Given the description of an element on the screen output the (x, y) to click on. 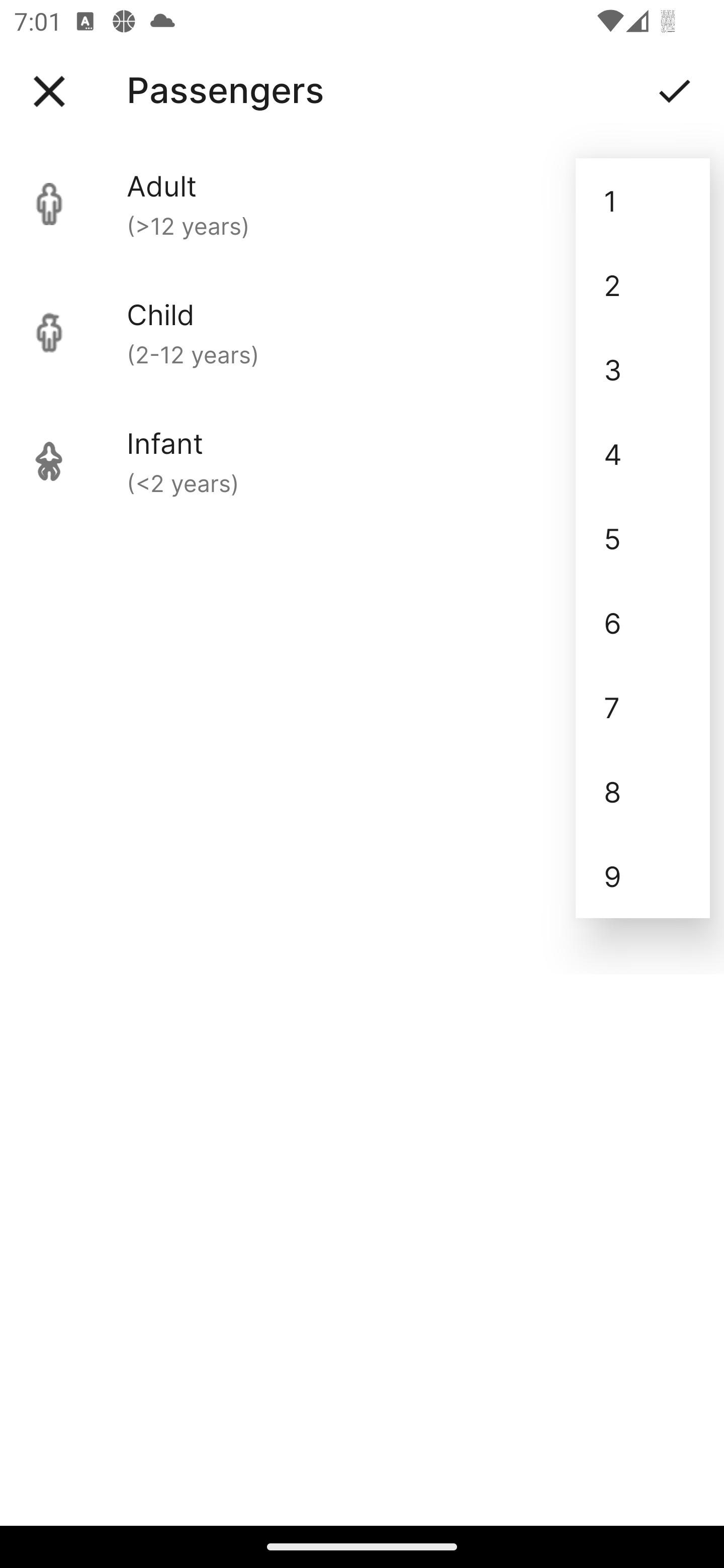
1 (642, 200)
2 (642, 285)
3 (642, 368)
4 (642, 452)
5 (642, 537)
6 (642, 622)
7 (642, 706)
8 (642, 791)
9 (642, 876)
